Given the description of an element on the screen output the (x, y) to click on. 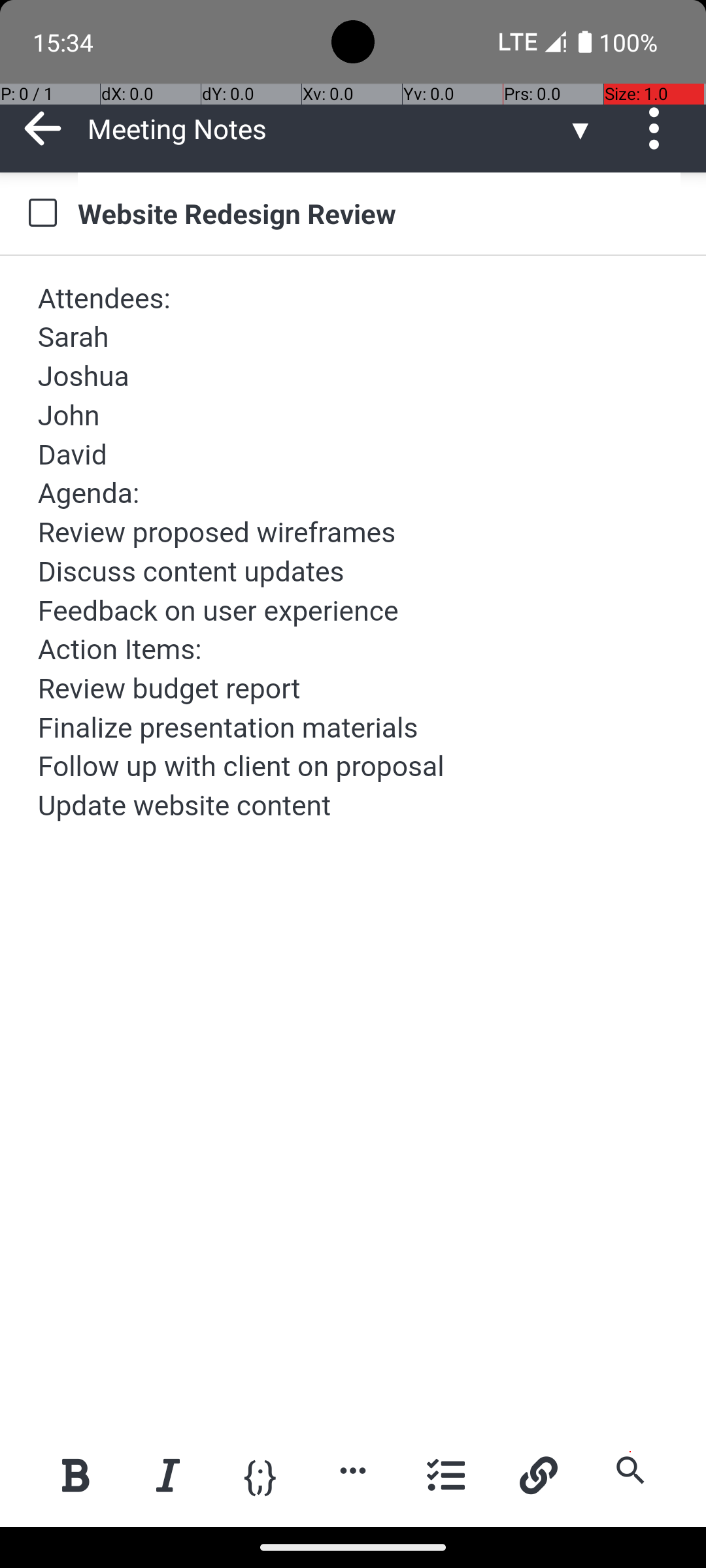
Website Redesign Review Element type: android.widget.EditText (378, 213)
Attendees:
Sarah
Joshua
John
David
Agenda:
Review proposed wireframes
Discuss content updates
Feedback on user experience
Action Items:
Review budget report
Finalize presentation materials
Follow up with client on proposal
Update website content Element type: android.widget.EditText (354, 552)
